Given the description of an element on the screen output the (x, y) to click on. 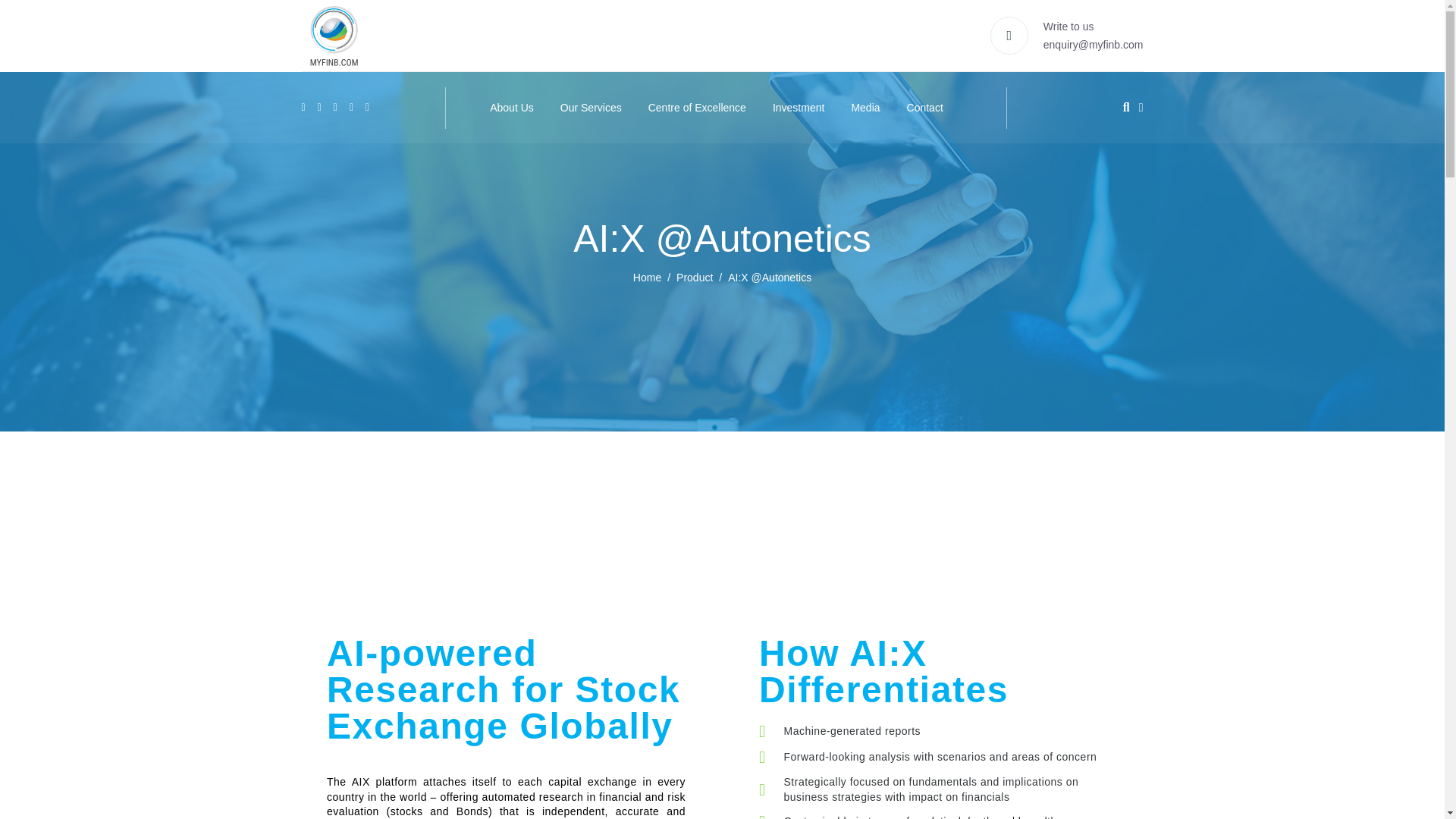
Home (647, 277)
